Given the description of an element on the screen output the (x, y) to click on. 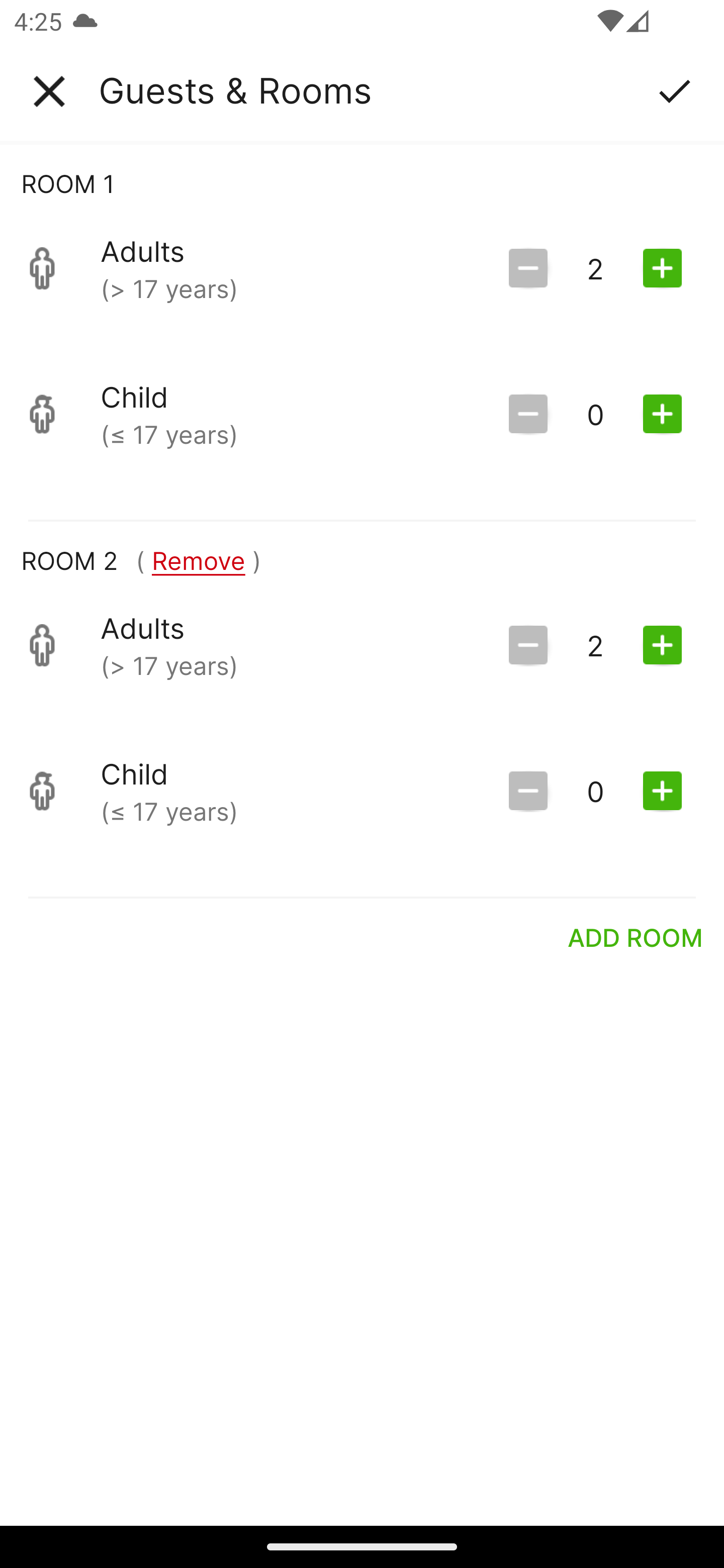
( Remove ) (198, 560)
ADD ROOM (635, 936)
